Given the description of an element on the screen output the (x, y) to click on. 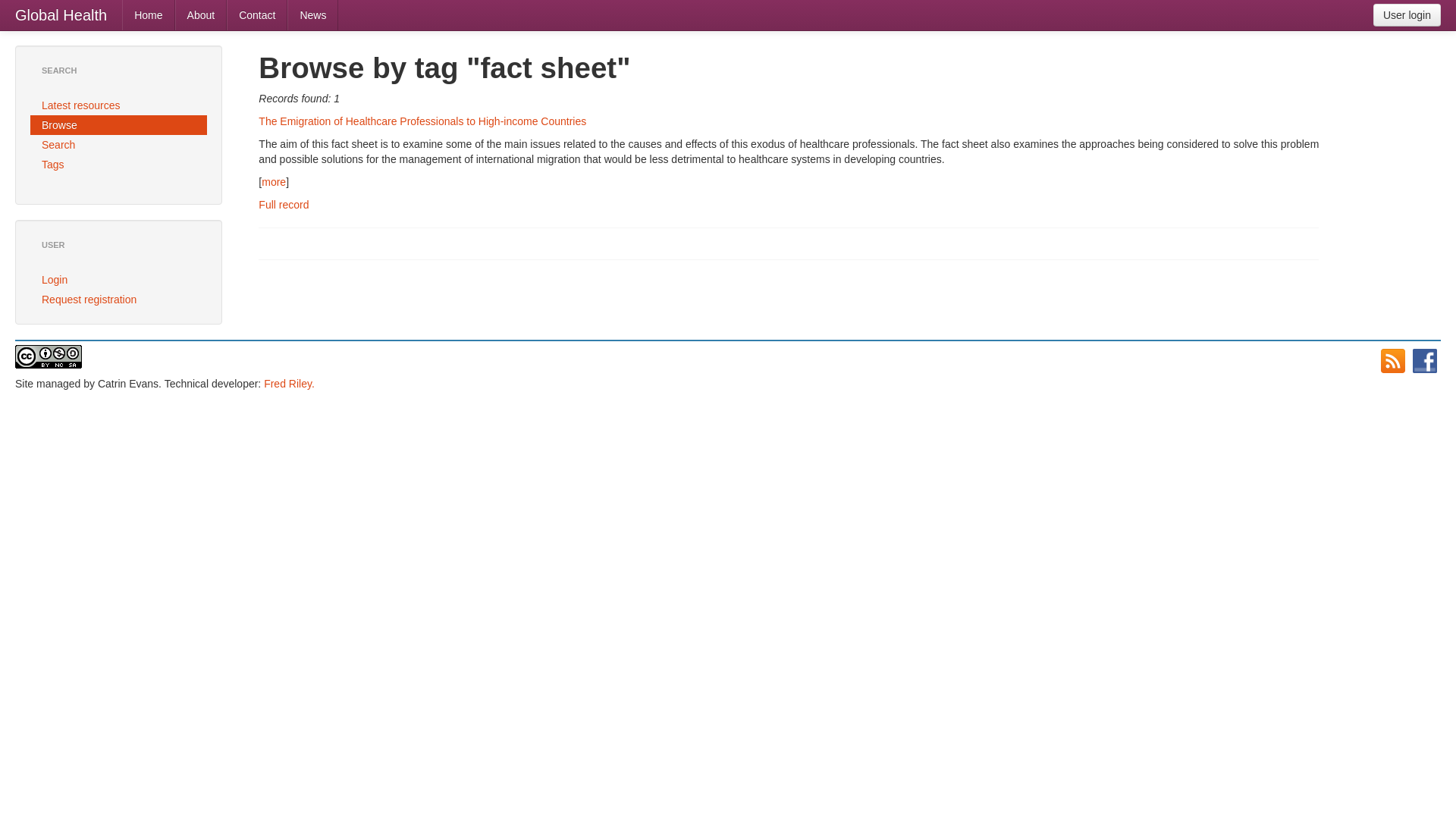
Latest resources (118, 105)
Tags (118, 164)
Request registration (118, 299)
Global Health (61, 15)
more (273, 182)
Home page and introduction (148, 15)
Site RSS newsfeeds (1392, 360)
Search (118, 144)
News (311, 15)
Full record (283, 204)
Follow the Global Health project on Facebook (1424, 360)
Contact the Global Health project (256, 15)
Registered user login (118, 279)
Fred Riley. (288, 383)
